Given the description of an element on the screen output the (x, y) to click on. 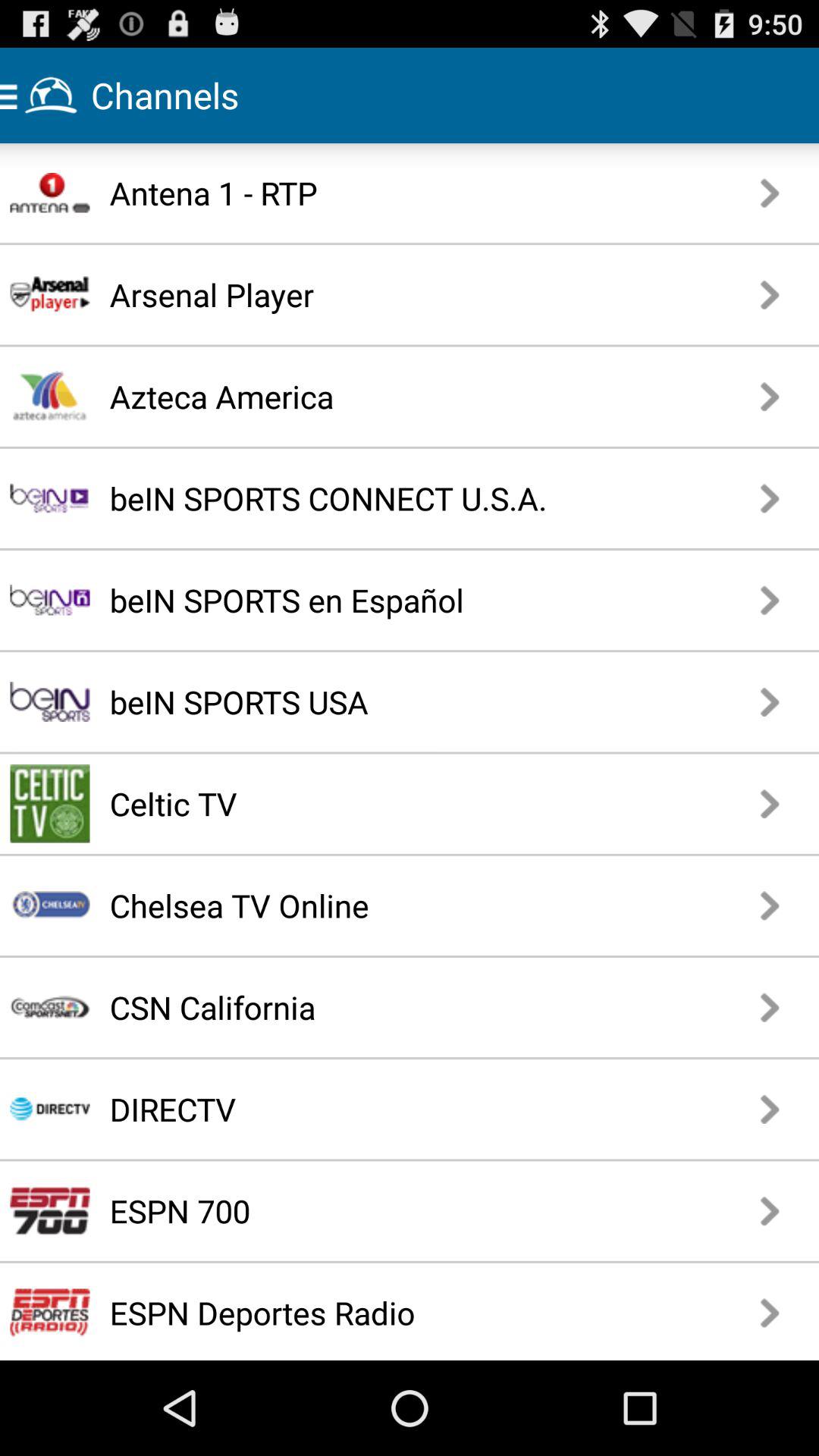
turn on the icon below antena 1 - rtp (366, 294)
